Given the description of an element on the screen output the (x, y) to click on. 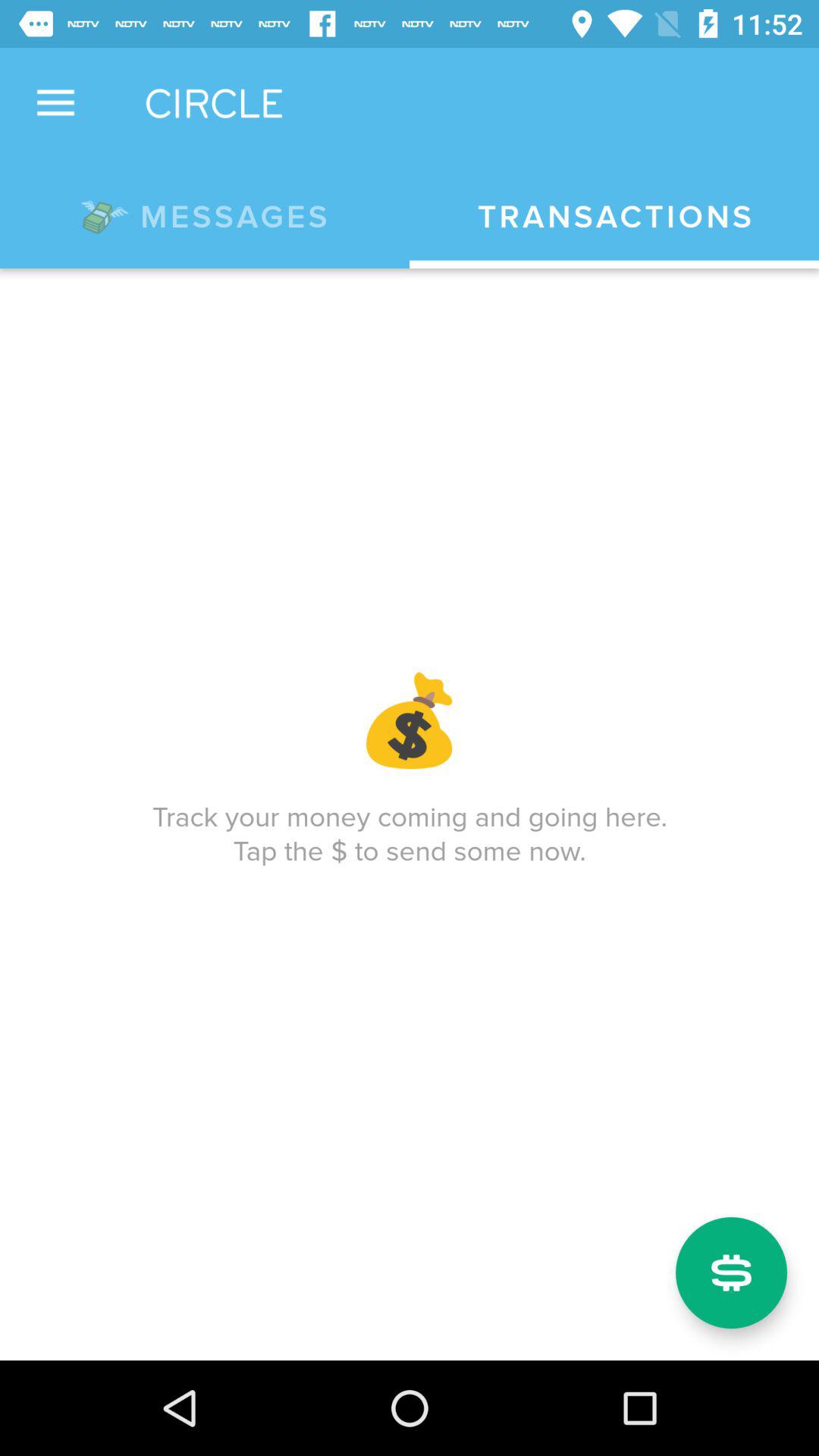
open the icon at the bottom right corner (731, 1272)
